Given the description of an element on the screen output the (x, y) to click on. 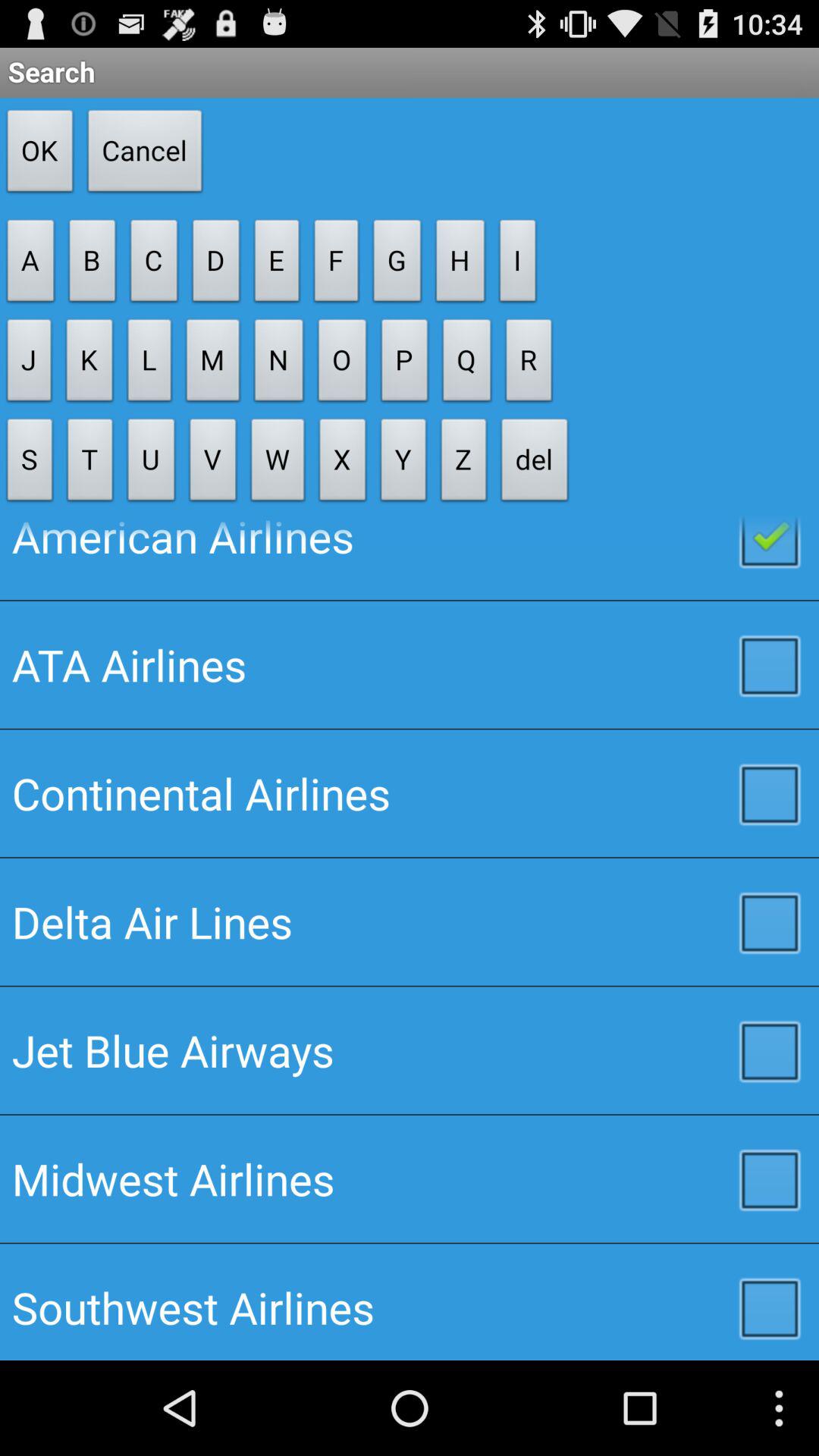
launch the item above southwest airlines (409, 1178)
